Given the description of an element on the screen output the (x, y) to click on. 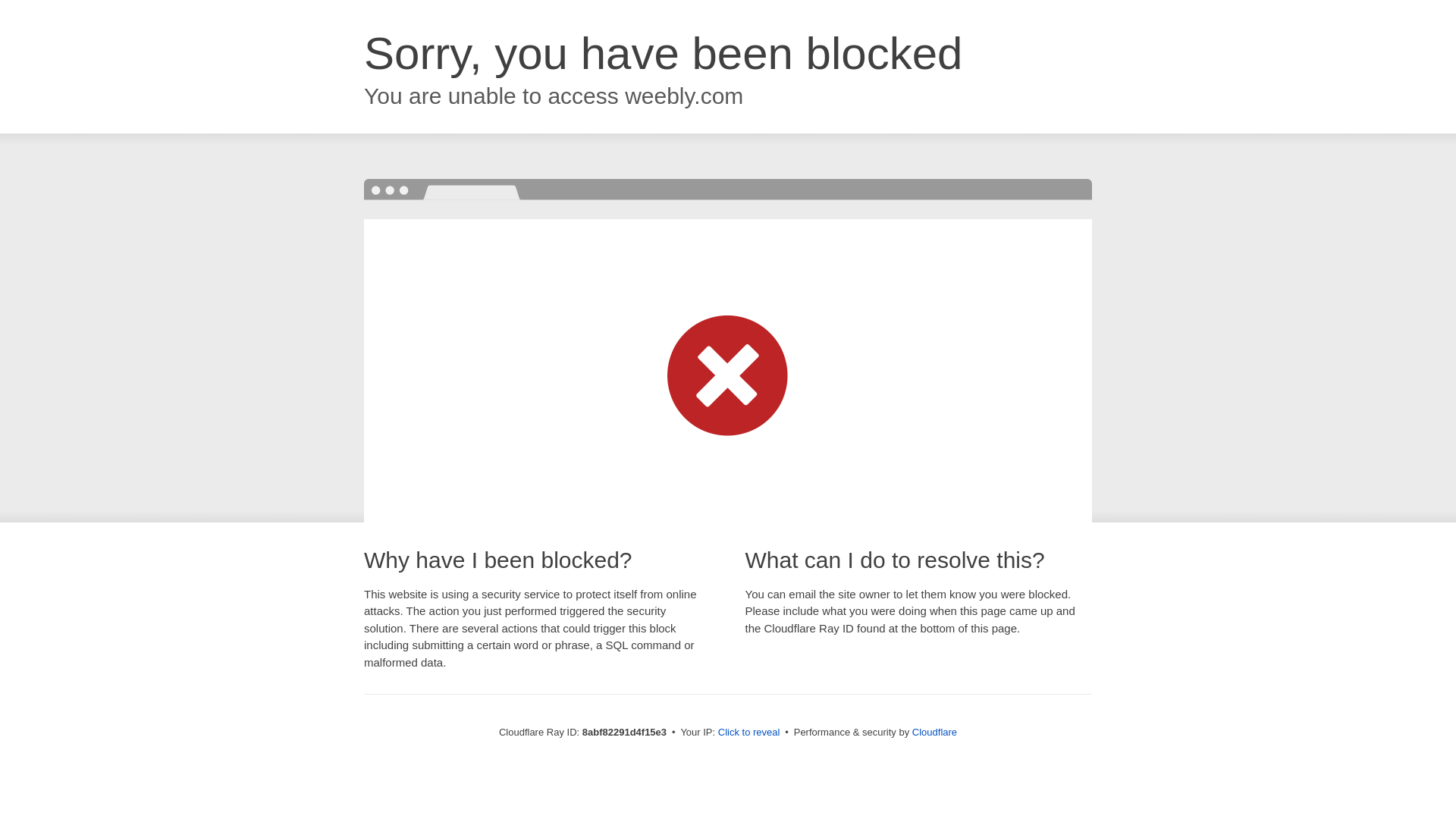
Cloudflare (934, 731)
Click to reveal (748, 732)
